Given the description of an element on the screen output the (x, y) to click on. 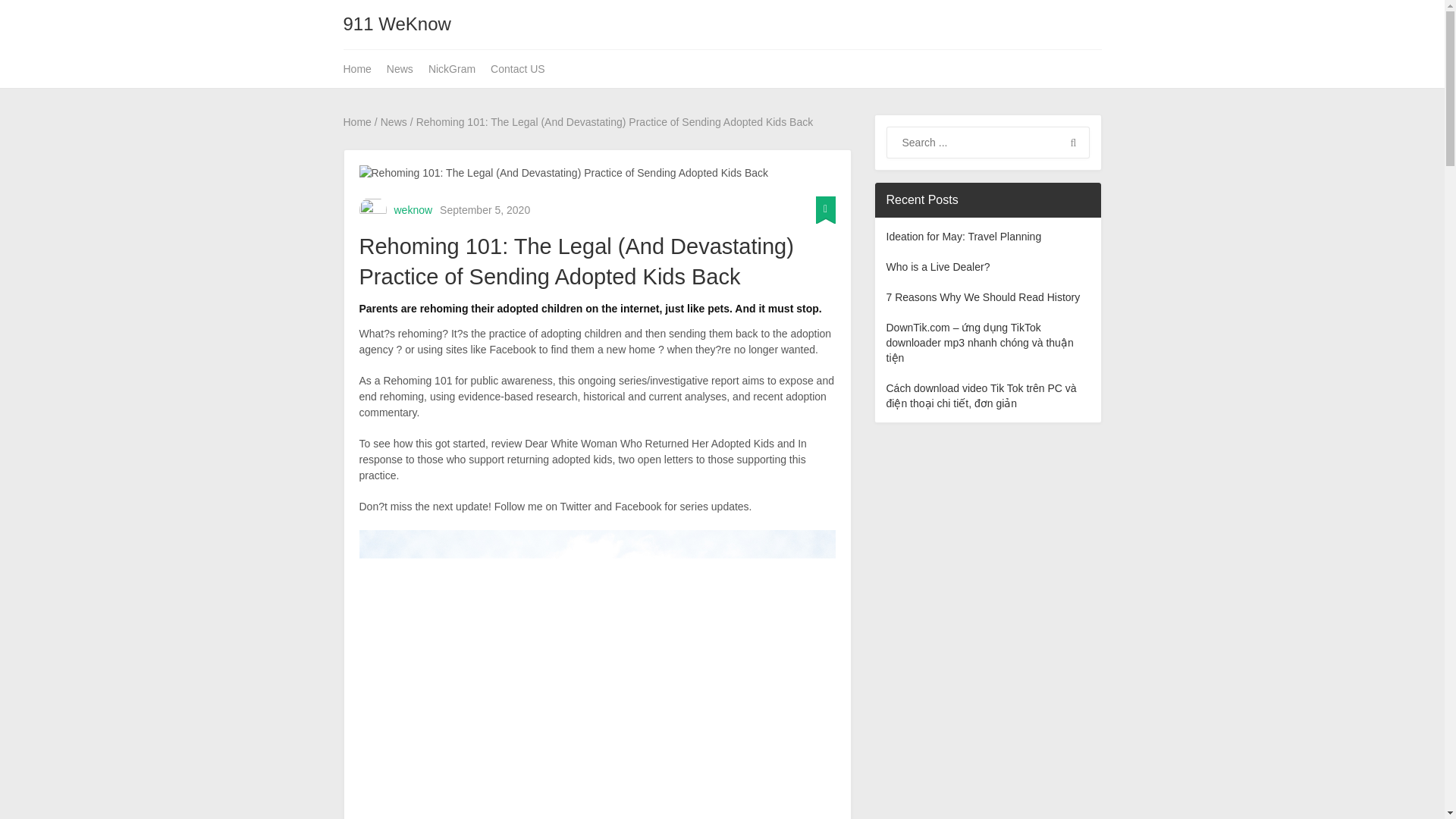
News (393, 121)
Home (360, 68)
7 Reasons Why We Should Read History (982, 297)
News (399, 68)
Posts by weknow (413, 209)
911 WeKnow (395, 24)
weknow (413, 209)
NickGram (451, 68)
Contact US (518, 68)
Home (356, 121)
Ideation for May: Travel Planning (963, 236)
Who is a Live Dealer? (937, 266)
